Given the description of an element on the screen output the (x, y) to click on. 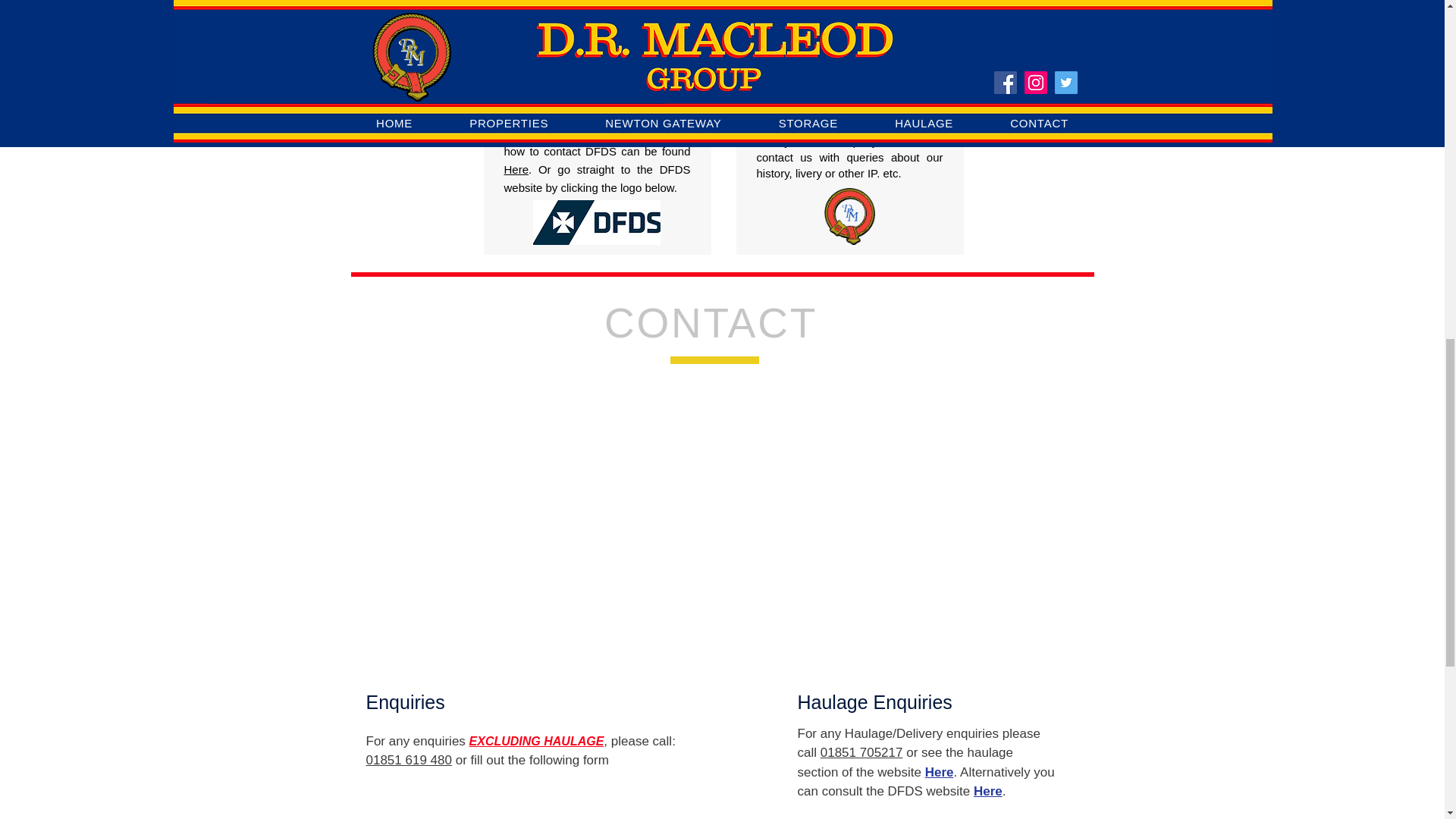
01851 705217 (861, 752)
Here (938, 771)
01851 619 480 (408, 759)
Here (988, 790)
EXCLUDING HAULAGE (536, 740)
Here (515, 169)
